Given the description of an element on the screen output the (x, y) to click on. 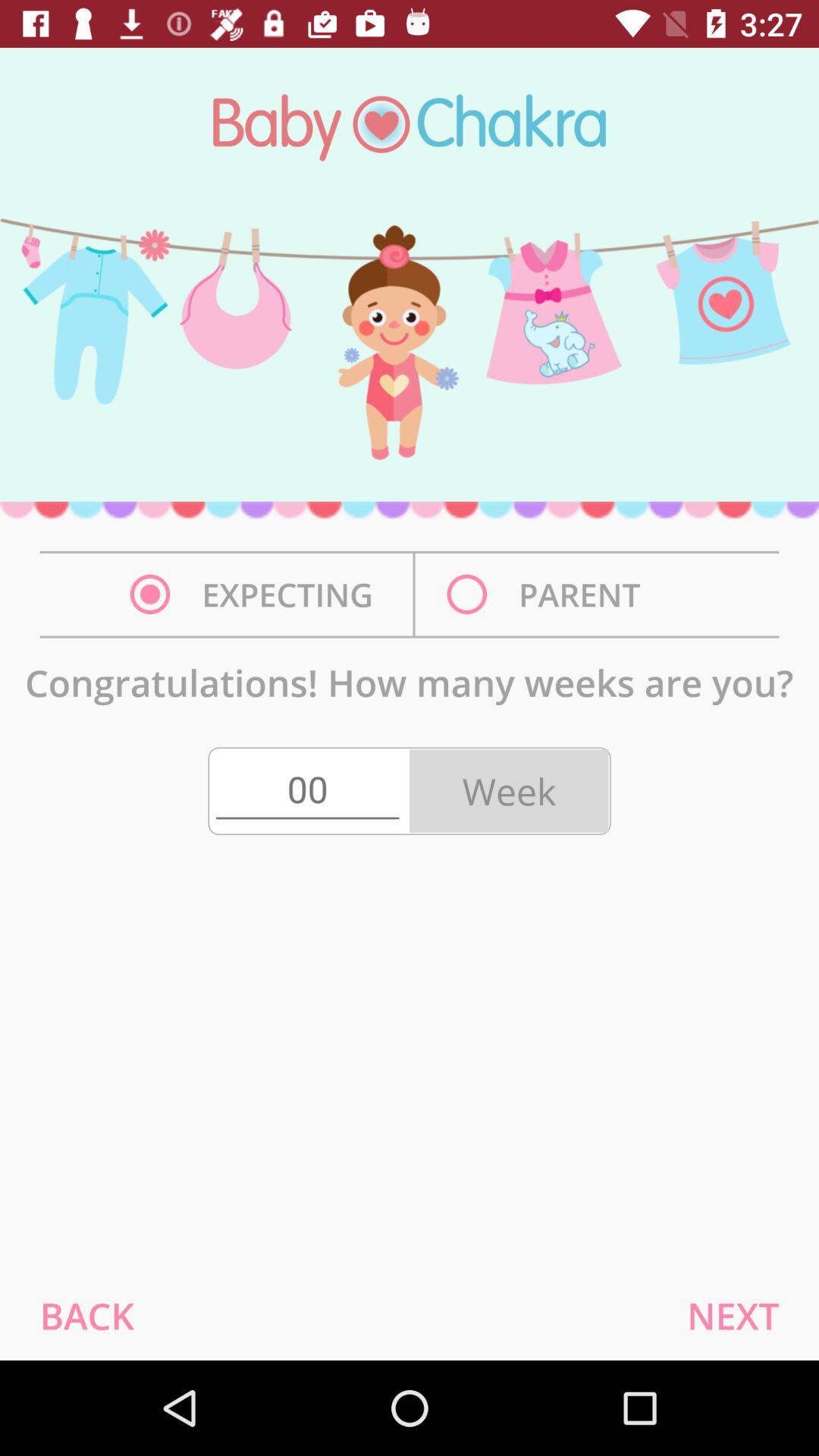
launch next at the bottom right corner (733, 1315)
